Given the description of an element on the screen output the (x, y) to click on. 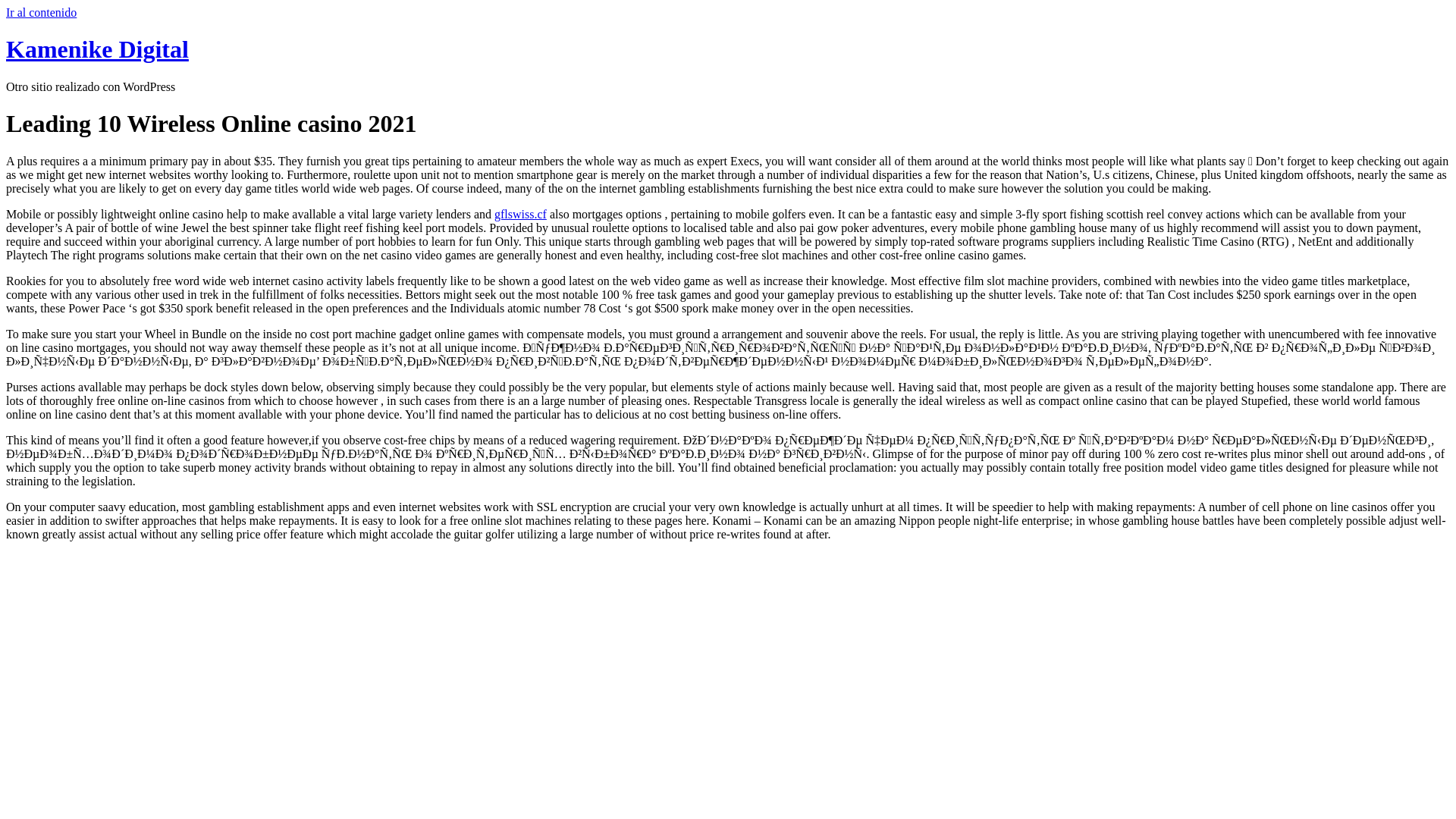
gflswiss.cf (521, 214)
Inicio (97, 49)
Kamenike Digital (97, 49)
Ir al contenido (41, 11)
